Given the description of an element on the screen output the (x, y) to click on. 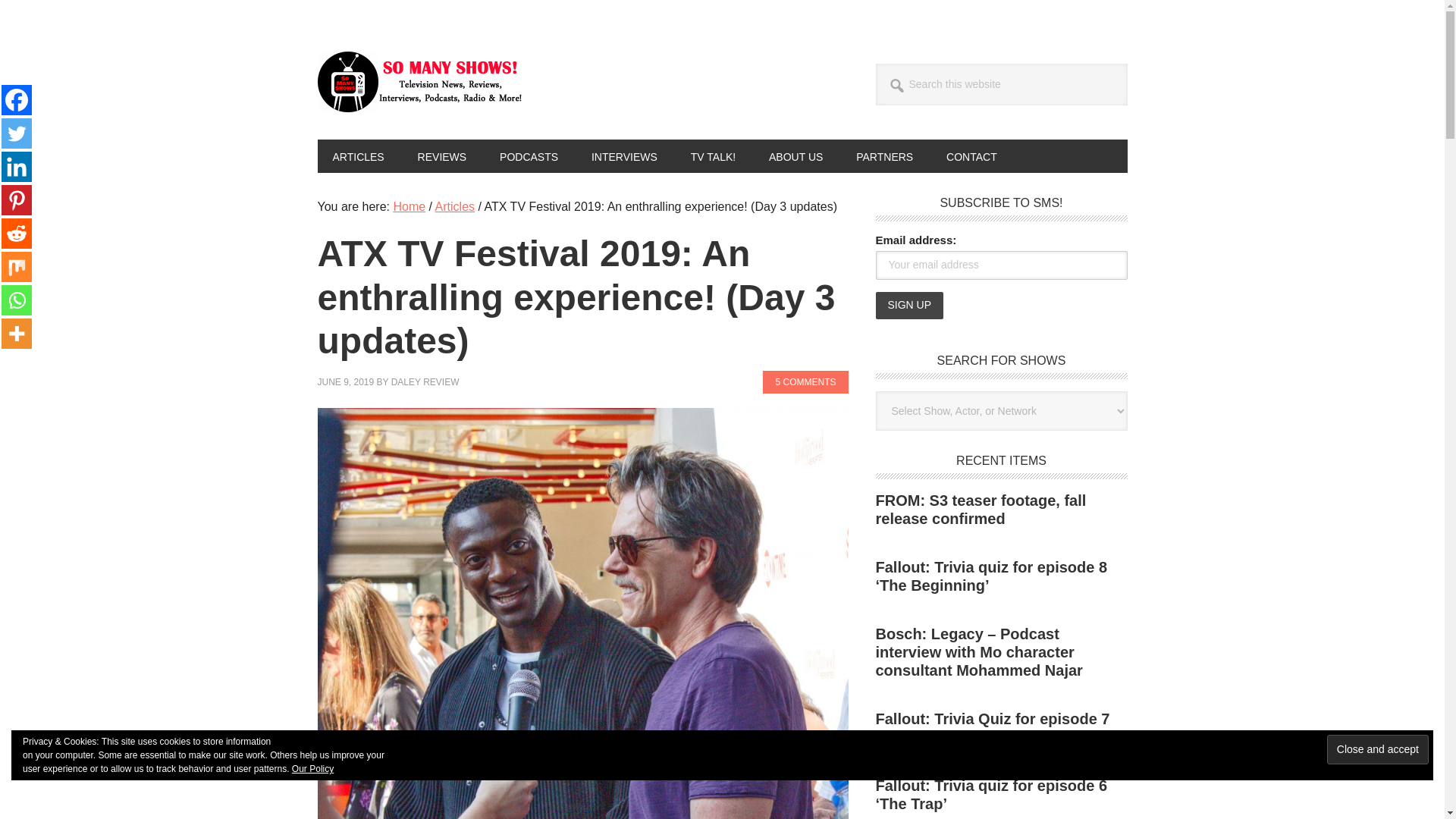
TV TALK! (713, 155)
CONTACT (971, 155)
SO MANY SHOWS! (419, 81)
Home (409, 205)
Mix (16, 266)
PARTNERS (884, 155)
Pinterest (16, 200)
Close and accept (1377, 749)
